Given the description of an element on the screen output the (x, y) to click on. 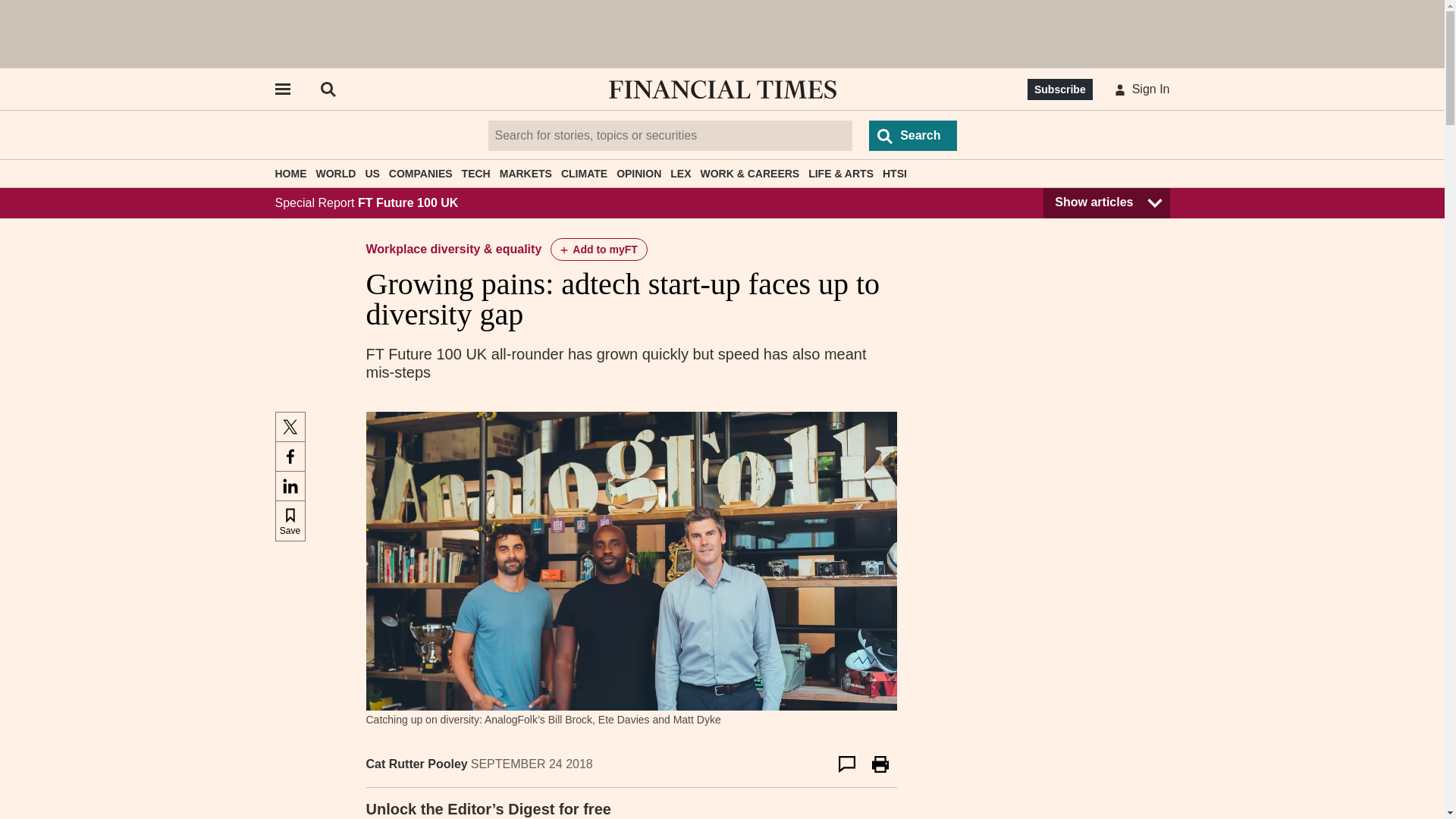
Print this page (879, 764)
Open side navigation menu (281, 89)
HOME (290, 173)
OPEN SEARCH BAR (327, 89)
Go to Financial Times homepage (721, 89)
Financial Times (721, 89)
Subscribe (1060, 88)
Jump to comments section (846, 764)
Search (912, 135)
Advertisement (722, 33)
Sign In (1139, 89)
Open search bar (327, 89)
WORLD (335, 173)
Financial Times (721, 89)
OPEN SIDE NAVIGATION MENU (281, 89)
